Given the description of an element on the screen output the (x, y) to click on. 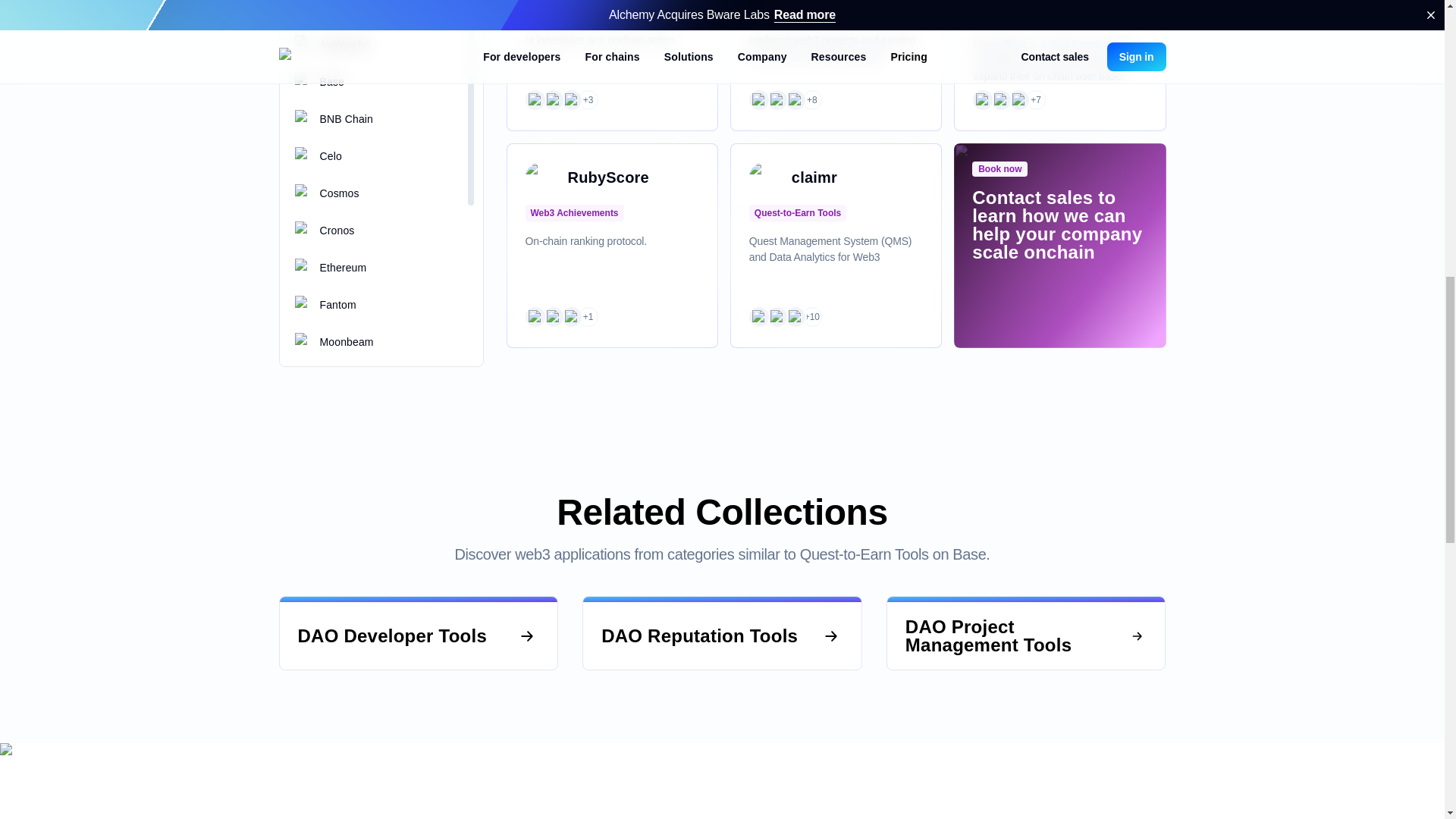
Celo (777, 316)
ZKsync (552, 316)
Base (534, 100)
Base (534, 316)
Base (1000, 100)
Base (758, 316)
Cosmos (1018, 100)
Ethereum (571, 100)
Base (758, 100)
Cosmos (777, 100)
